Given the description of an element on the screen output the (x, y) to click on. 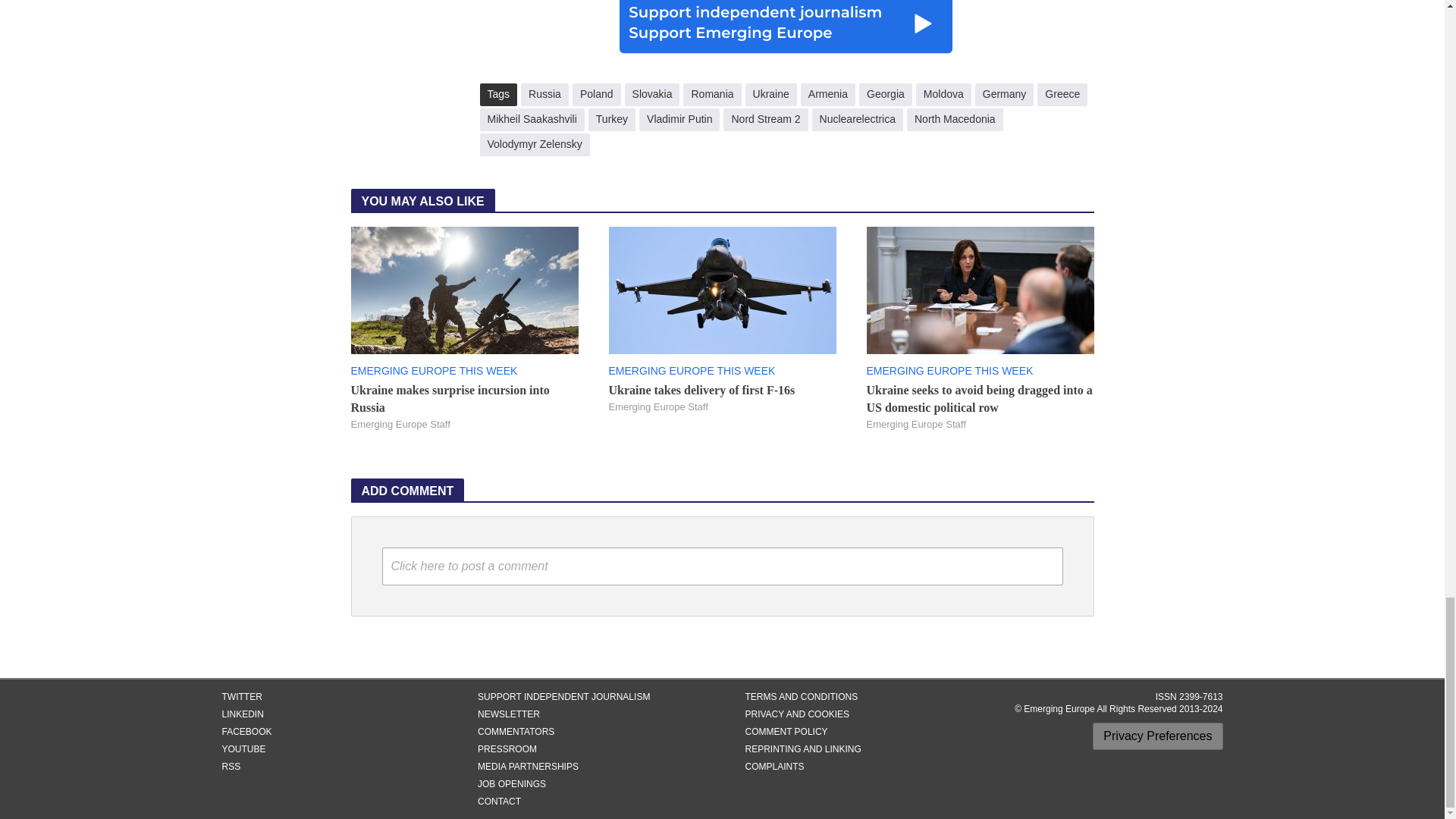
Ukraine takes delivery of first F-16s (721, 288)
Ukraine makes surprise incursion into Russia (464, 288)
